Given the description of an element on the screen output the (x, y) to click on. 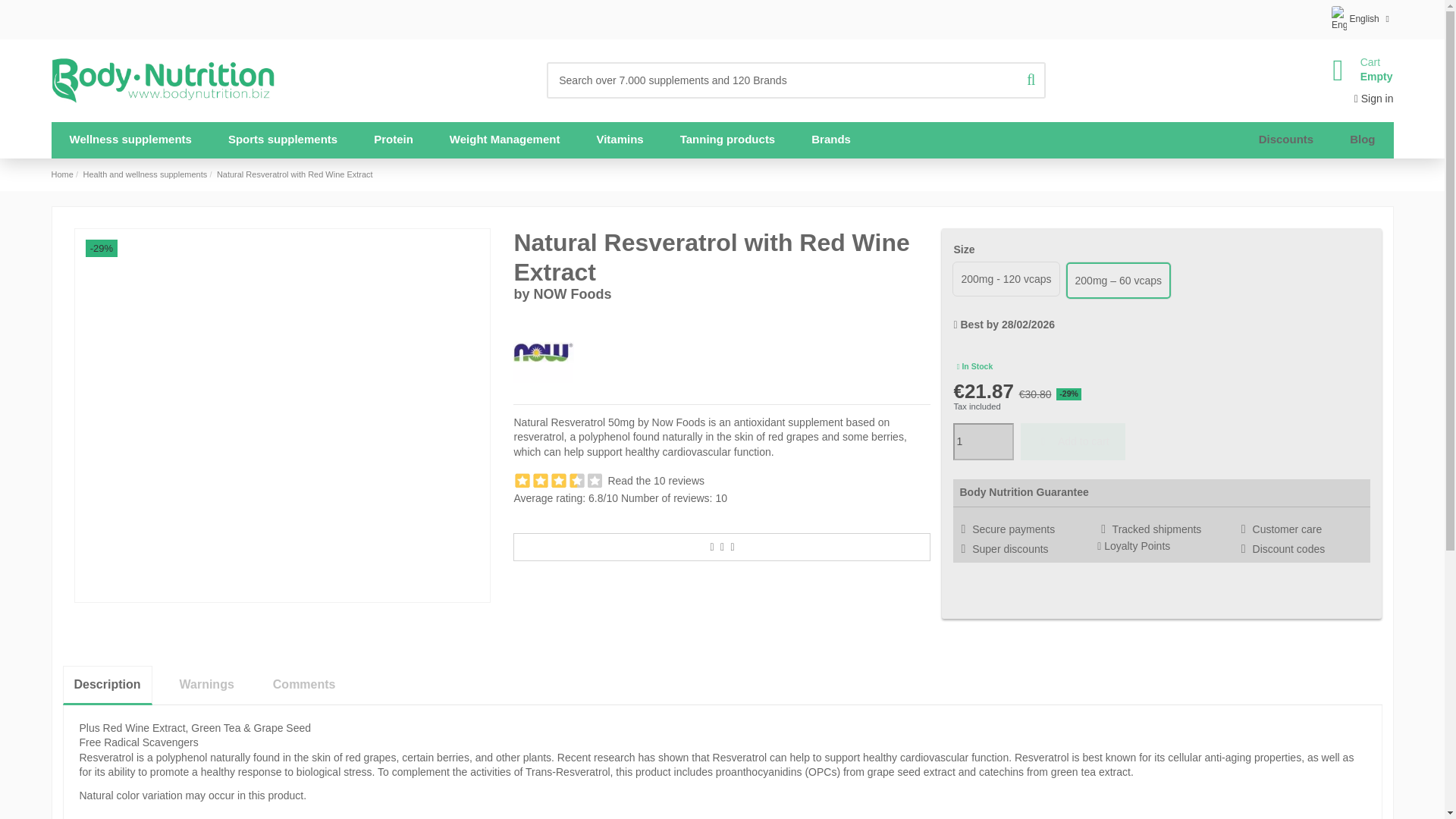
Wellness supplements (1355, 69)
1 (129, 140)
English (983, 441)
